Given the description of an element on the screen output the (x, y) to click on. 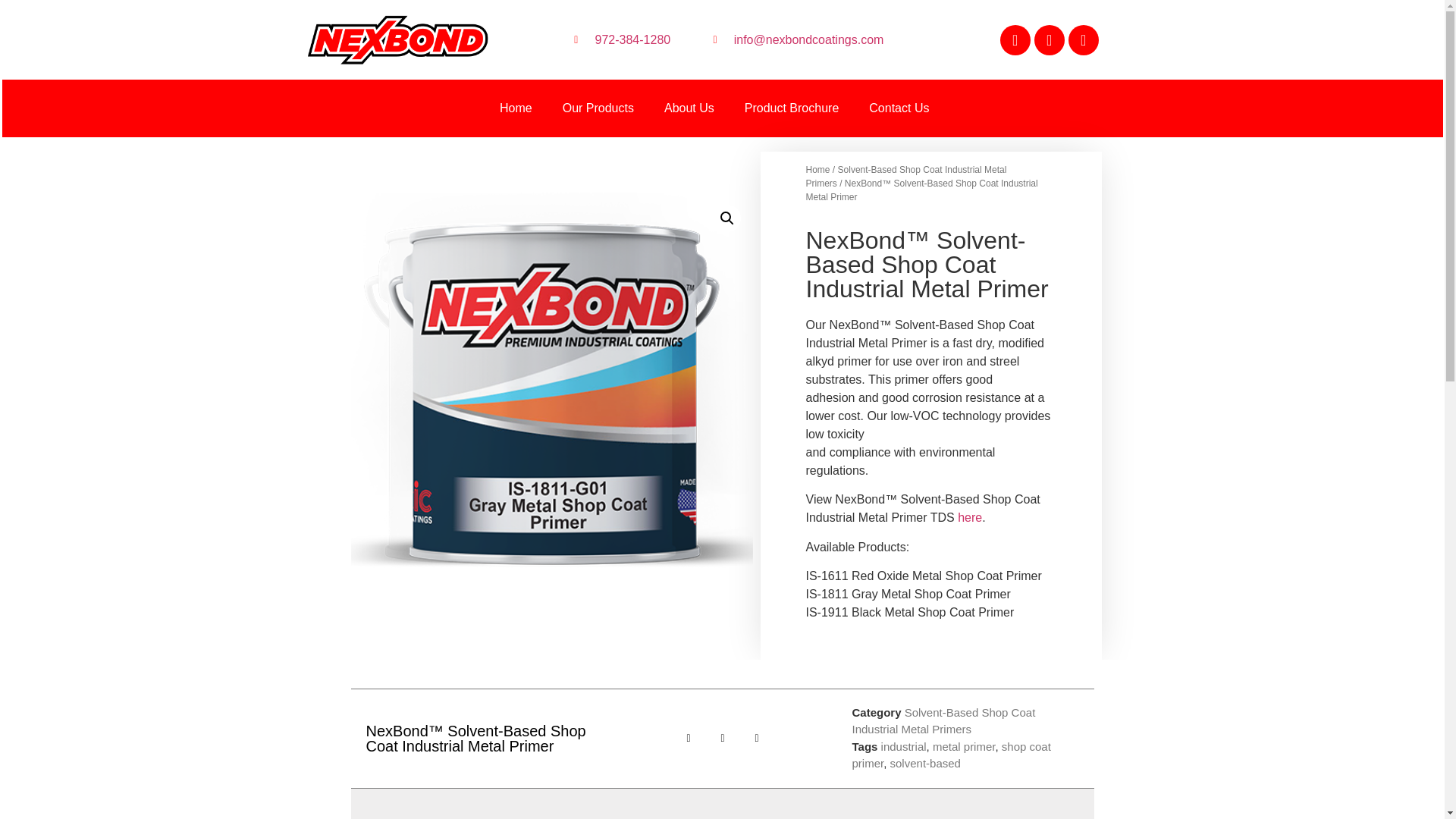
972-384-1280 (619, 40)
Home (515, 108)
solvent-based (924, 762)
industrial (903, 746)
Solvent-Based Shop Coat Industrial Metal Primers (905, 176)
shop coat primer (950, 755)
here (969, 517)
Our Products (598, 108)
Contact Us (898, 108)
